Given the description of an element on the screen output the (x, y) to click on. 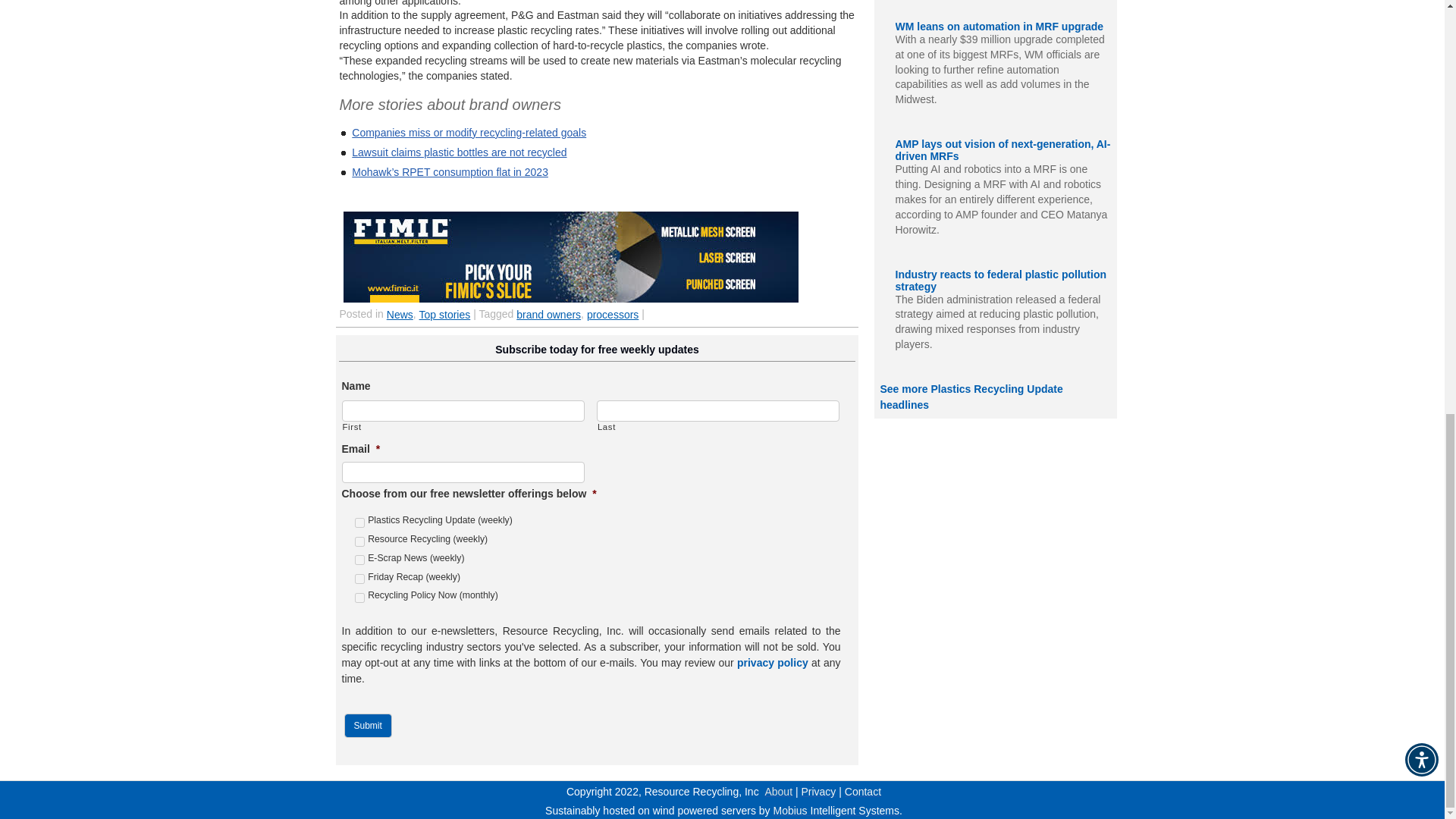
Submit (367, 725)
